Given the description of an element on the screen output the (x, y) to click on. 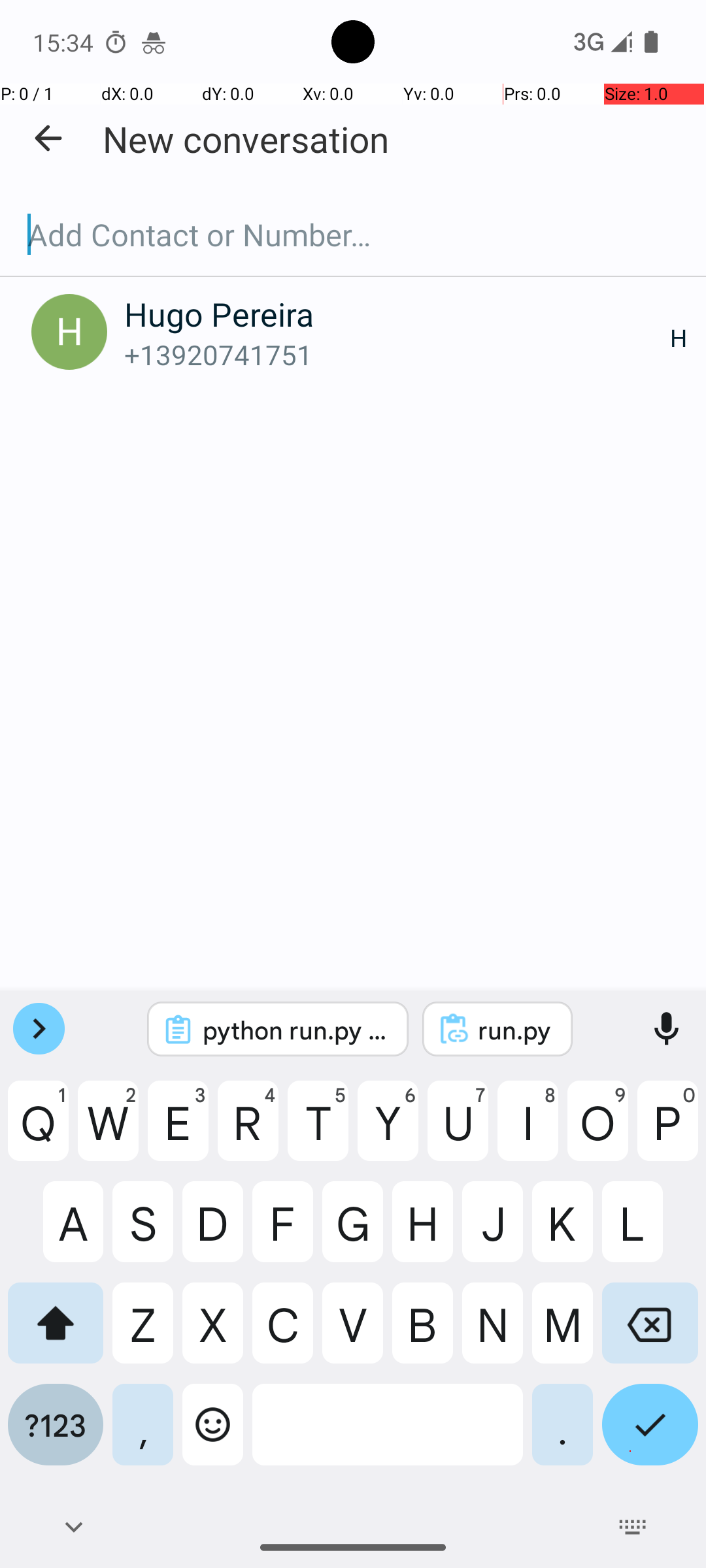
+13920741751 Element type: android.widget.TextView (397, 354)
